Given the description of an element on the screen output the (x, y) to click on. 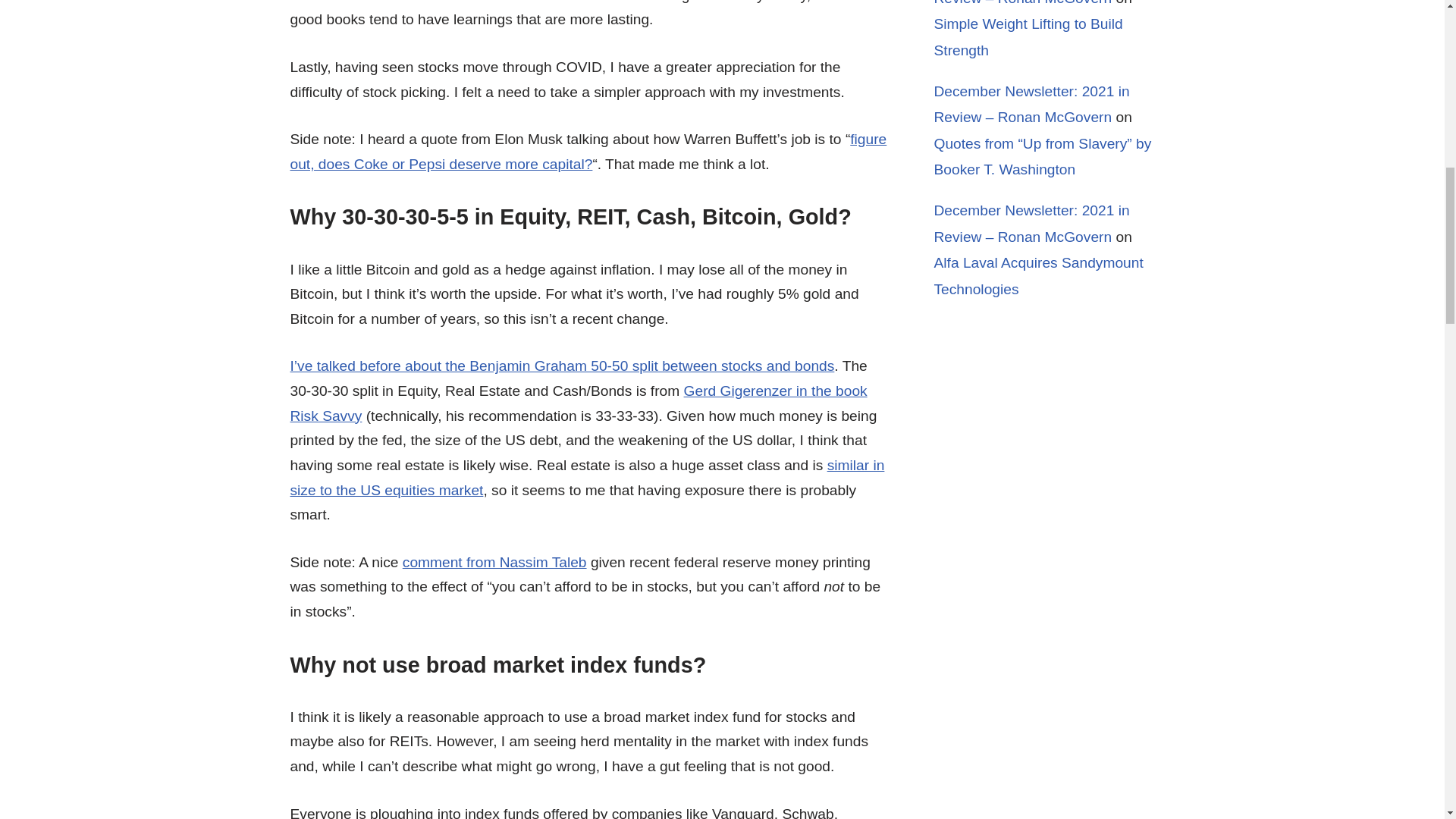
comment from Nassim Taleb (494, 562)
similar in size to the US equities market (586, 477)
Simple Weight Lifting to Build Strength (1028, 36)
Gerd Gigerenzer in the book Risk Savvy (577, 403)
figure out, does Coke or Pepsi deserve more capital? (587, 151)
